Given the description of an element on the screen output the (x, y) to click on. 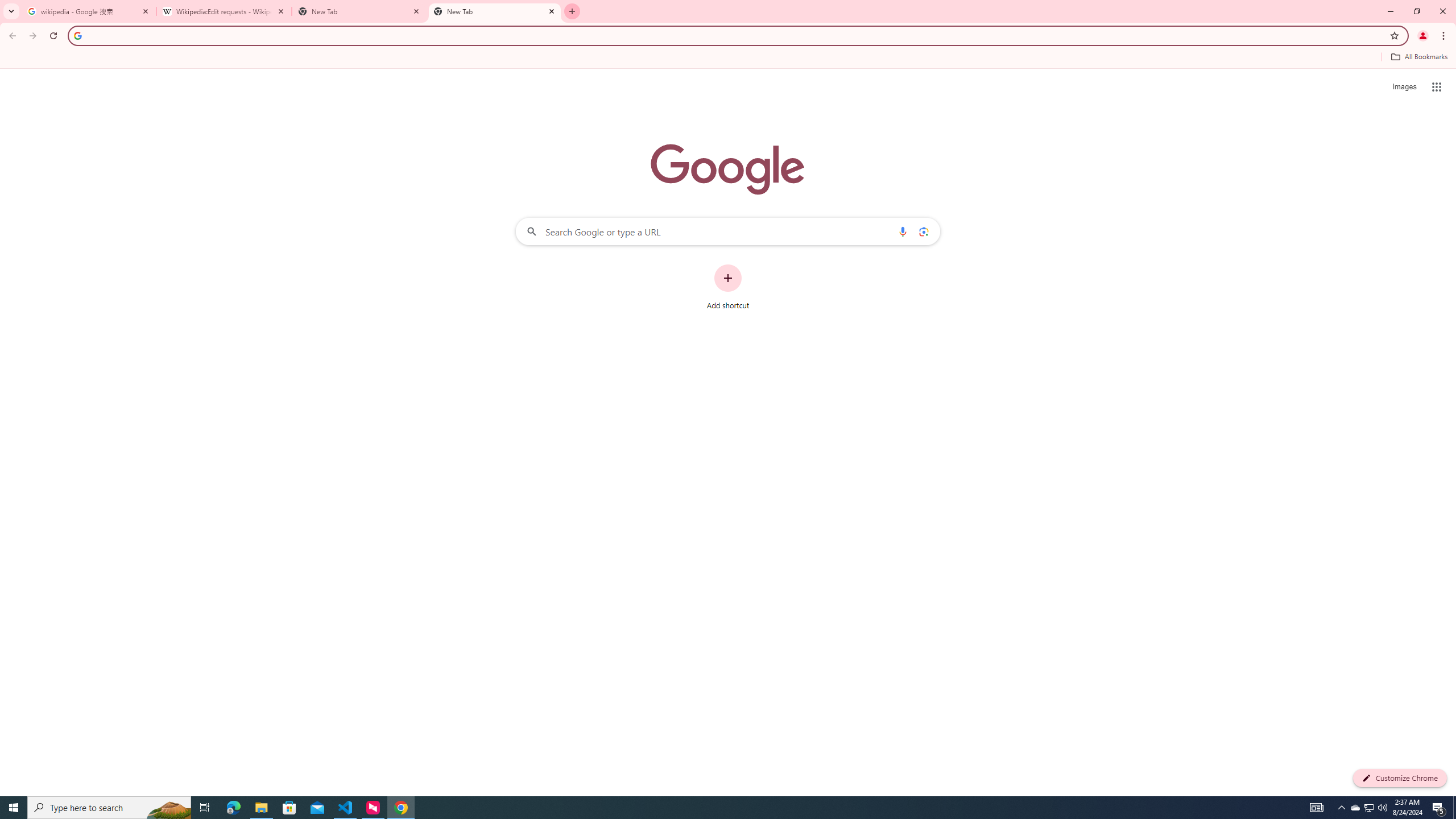
Bookmarks (728, 58)
Add shortcut (727, 287)
Search for Images  (1403, 87)
New Tab (359, 11)
Search Google or type a URL (727, 230)
Customize Chrome (1399, 778)
